Given the description of an element on the screen output the (x, y) to click on. 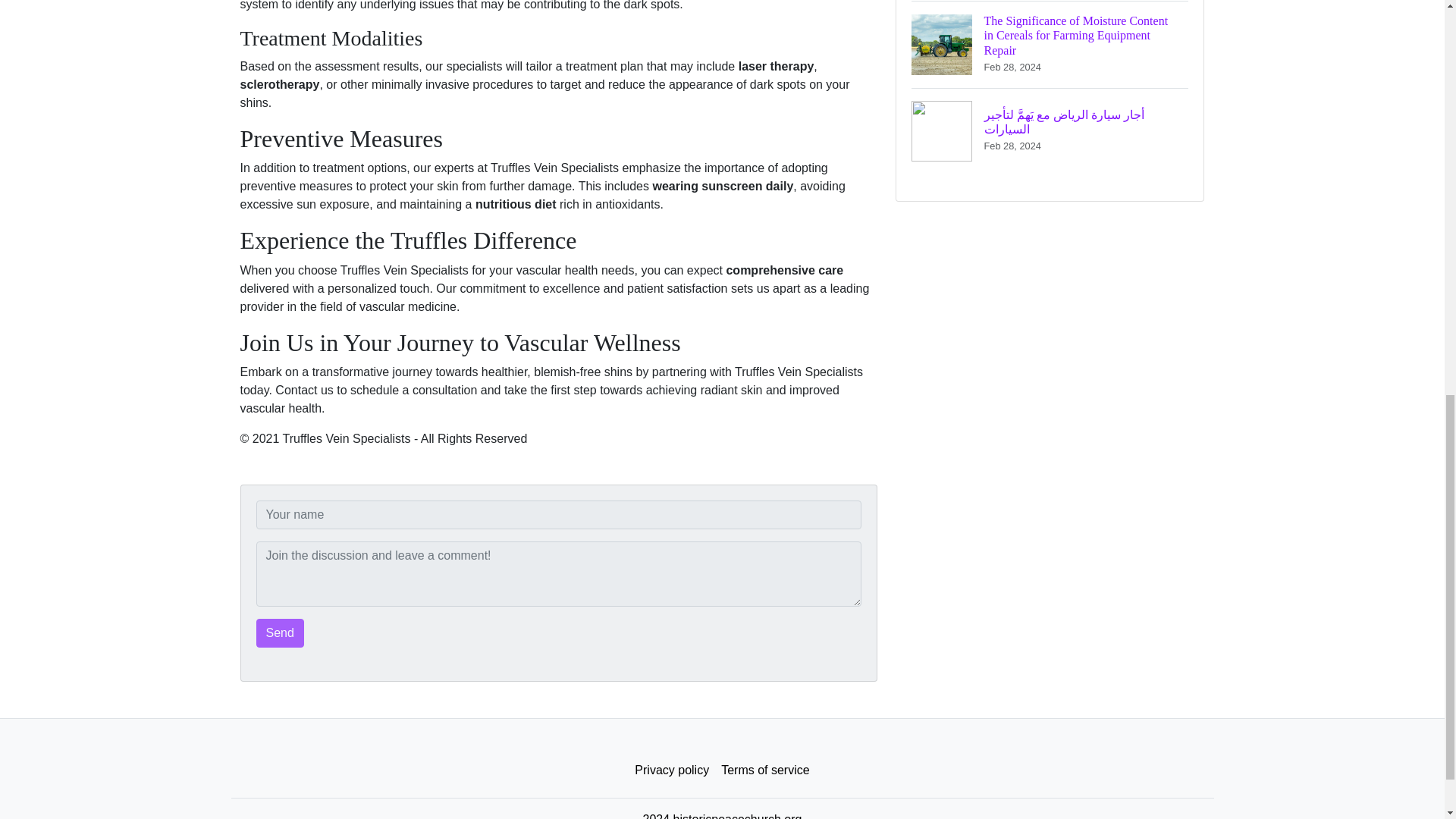
Terms of service (764, 770)
Privacy policy (671, 770)
Send (280, 633)
Send (280, 633)
